Given the description of an element on the screen output the (x, y) to click on. 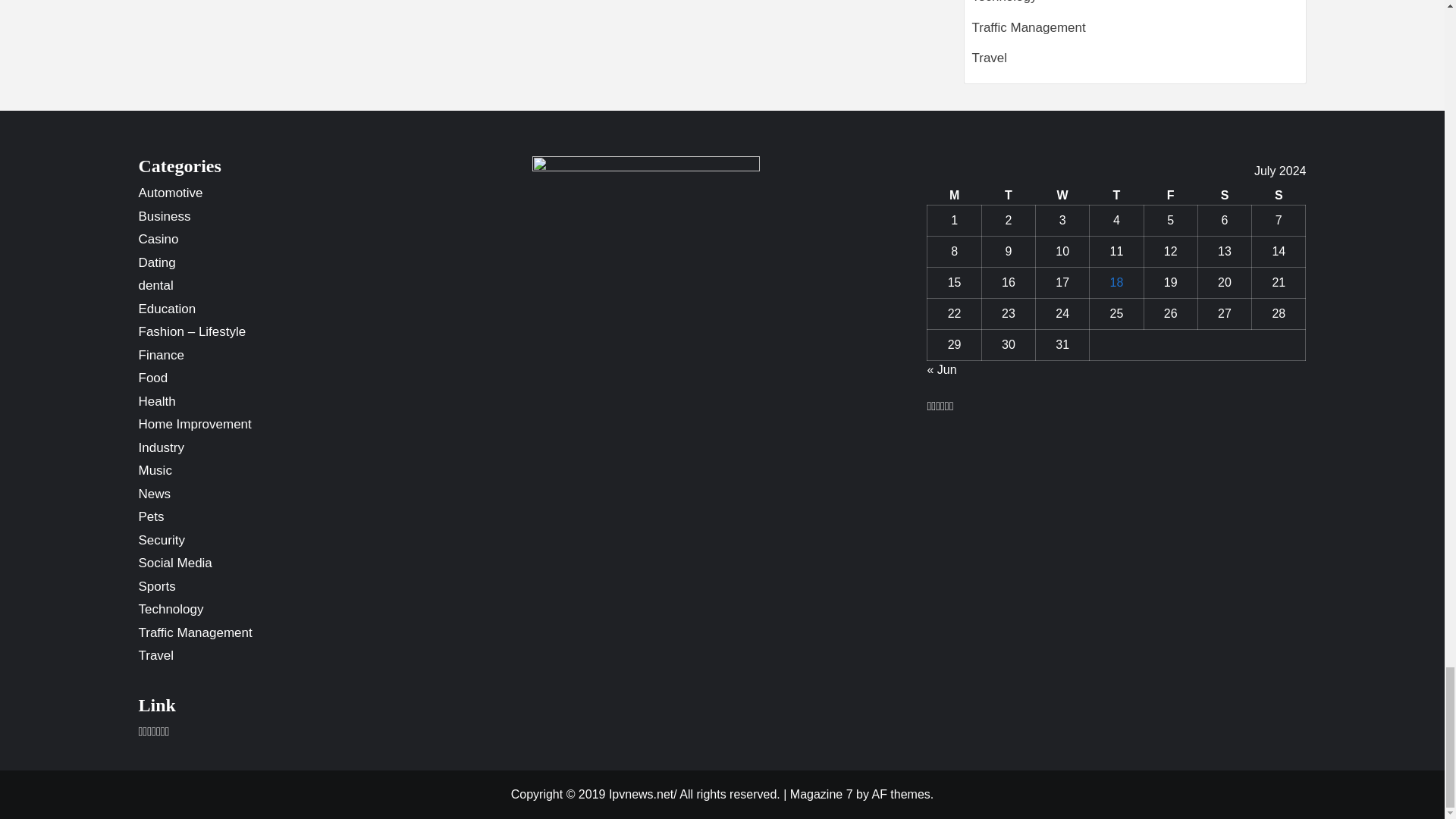
Saturday (1223, 195)
Sunday (1279, 195)
Tuesday (1008, 195)
Friday (1169, 195)
Monday (954, 195)
Thursday (1115, 195)
Wednesday (1062, 195)
